Given the description of an element on the screen output the (x, y) to click on. 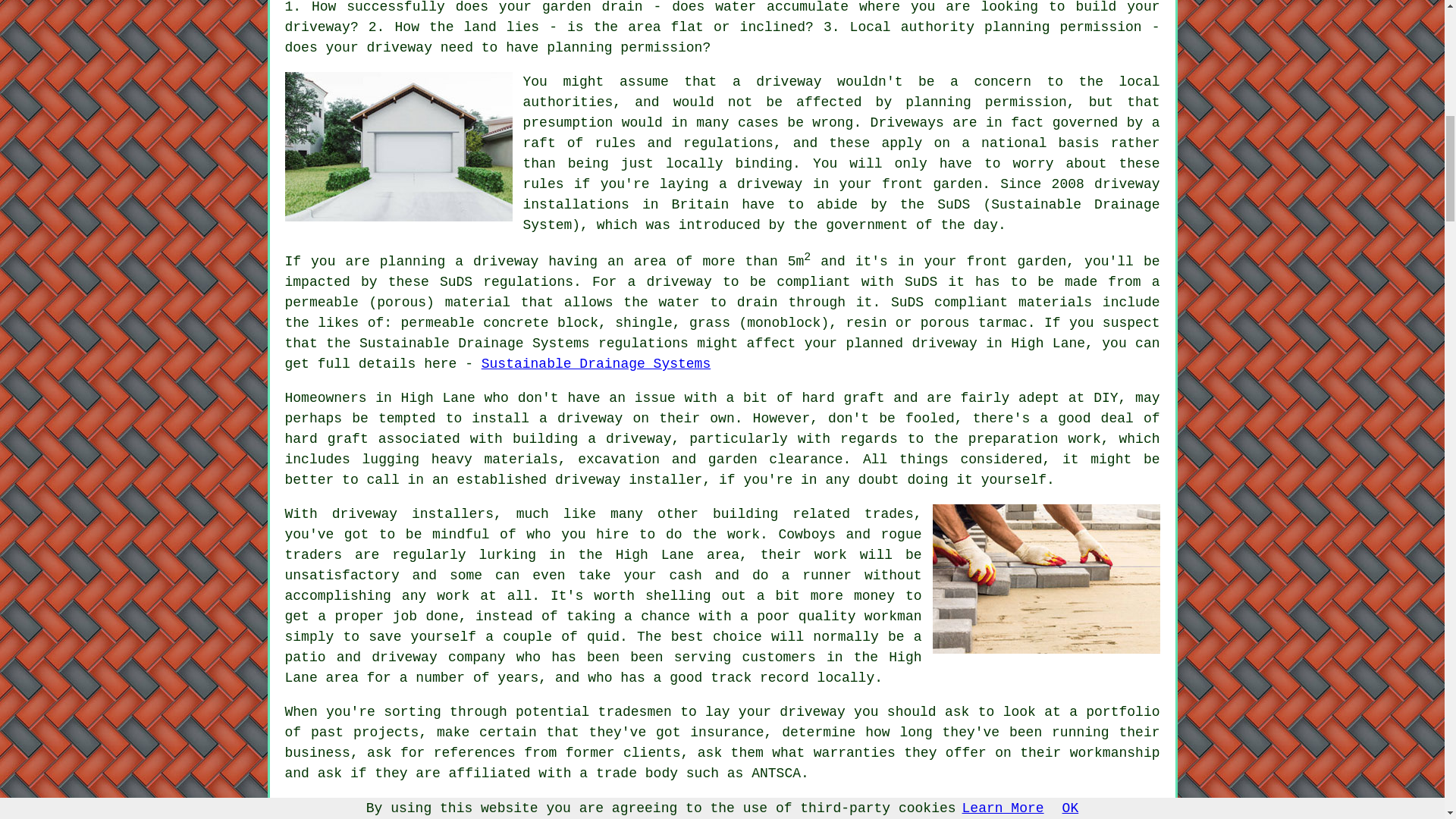
driveway installations (841, 194)
Driveway Services High Lane (1046, 578)
Driveway Pavers High Lane UK (398, 146)
planning permission (624, 47)
